Given the description of an element on the screen output the (x, y) to click on. 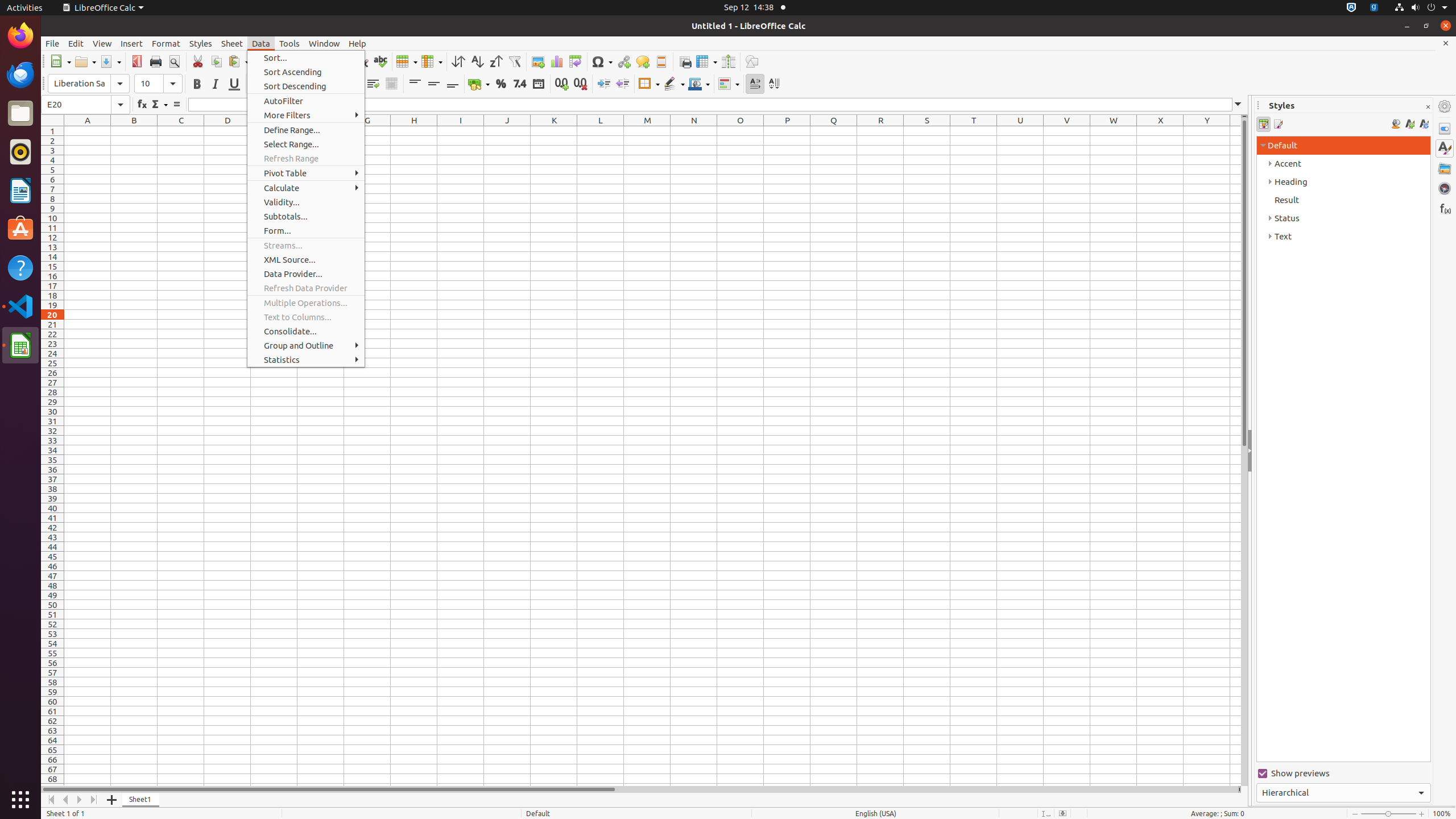
H1 Element type: table-cell (413, 130)
Cell Styles Element type: push-button (1263, 123)
Chart Element type: push-button (556, 61)
Delete Decimal Place Element type: push-button (580, 83)
Data Element type: menu (260, 43)
